Given the description of an element on the screen output the (x, y) to click on. 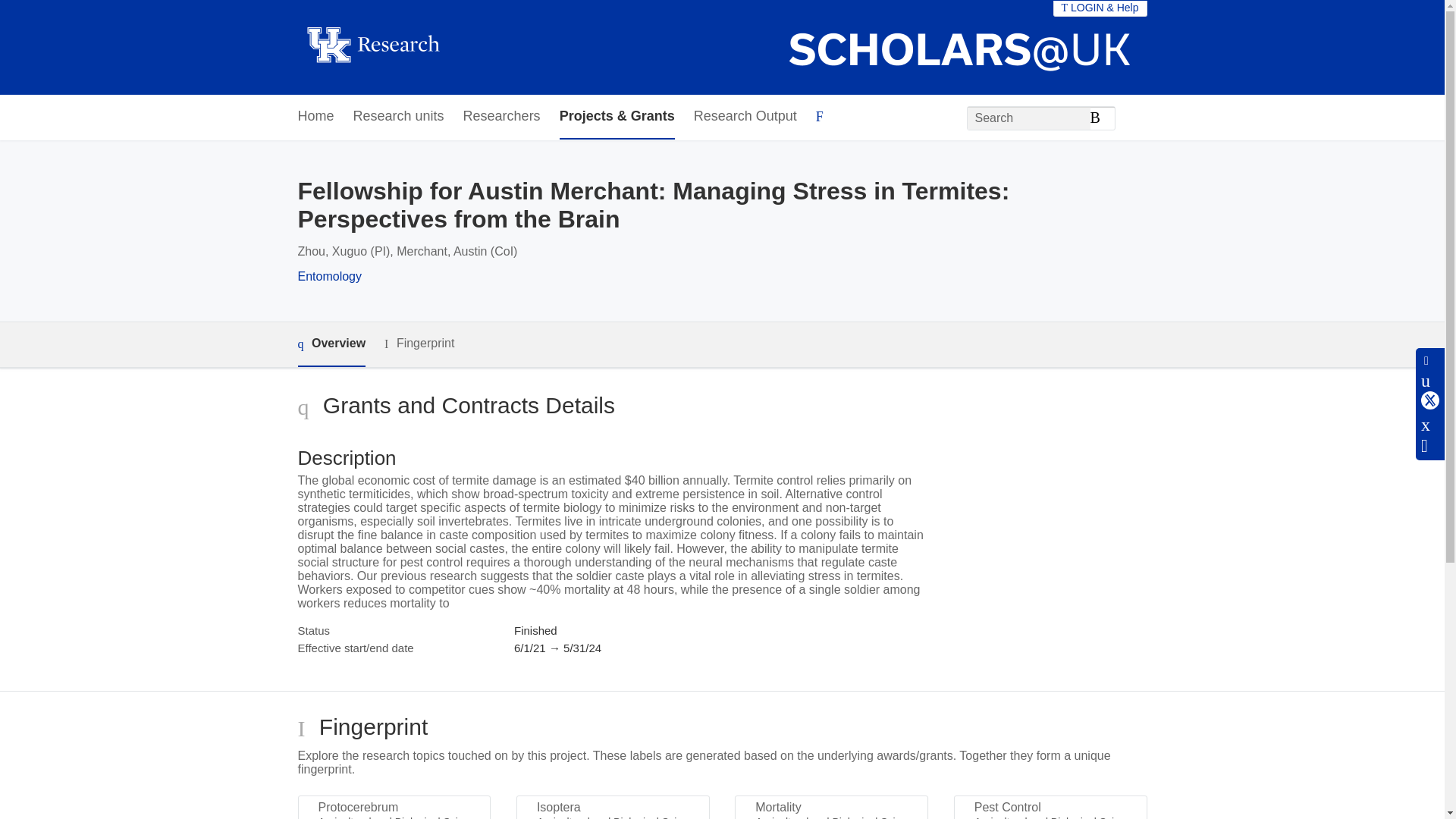
Research units (398, 117)
Overview (331, 344)
Researchers (501, 117)
University of Kentucky Home (372, 47)
Research Output (745, 117)
Fingerprint (419, 343)
Entomology (329, 276)
